Given the description of an element on the screen output the (x, y) to click on. 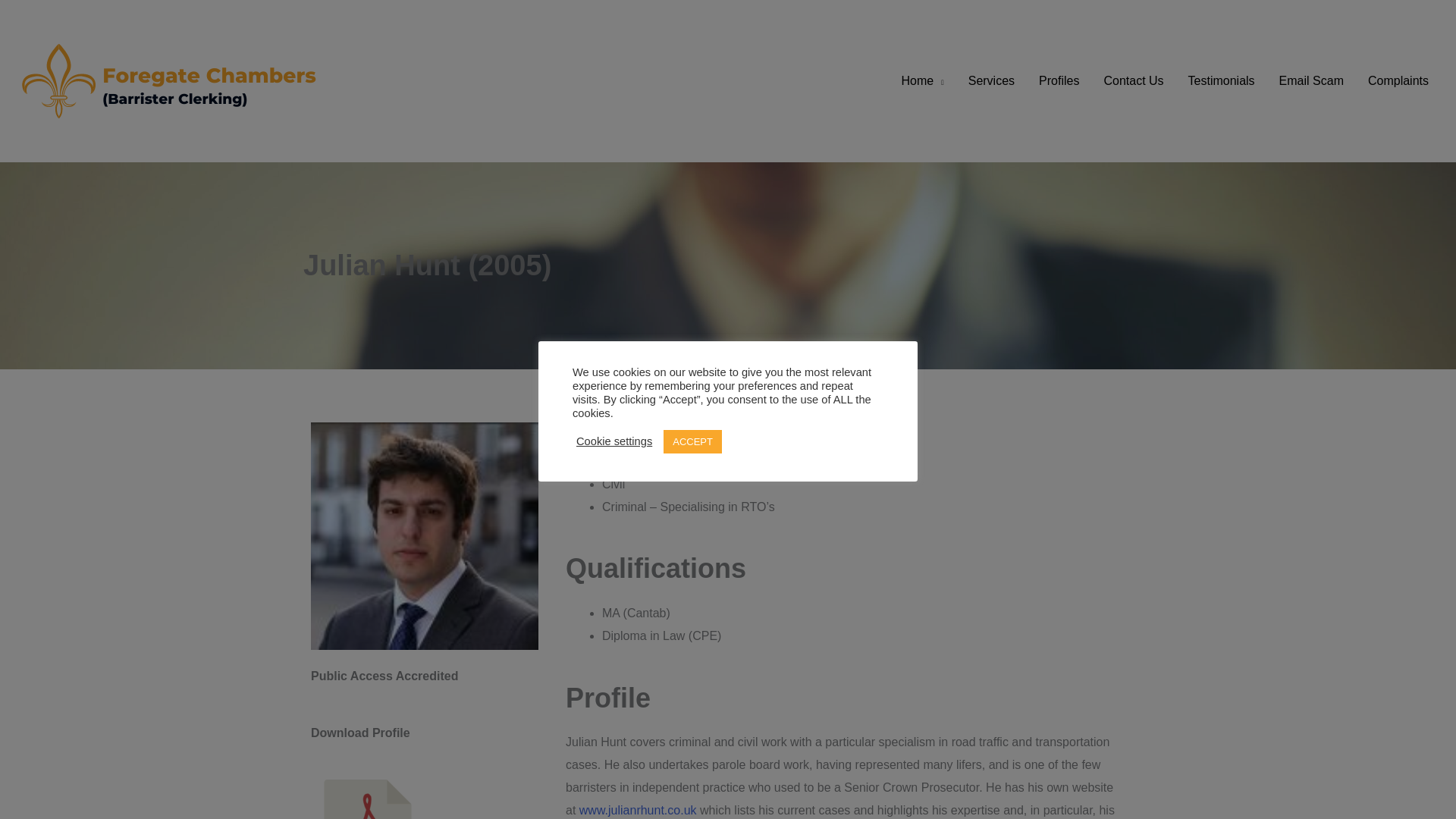
Complaints (1398, 80)
Services (991, 80)
Email Scam (1310, 80)
Contact Us (1132, 80)
Profiles (1058, 80)
ACCEPT (692, 440)
www.julianrhunt.co.uk  (639, 809)
Cookie settings (614, 440)
Home (922, 80)
Testimonials (1221, 80)
